Given the description of an element on the screen output the (x, y) to click on. 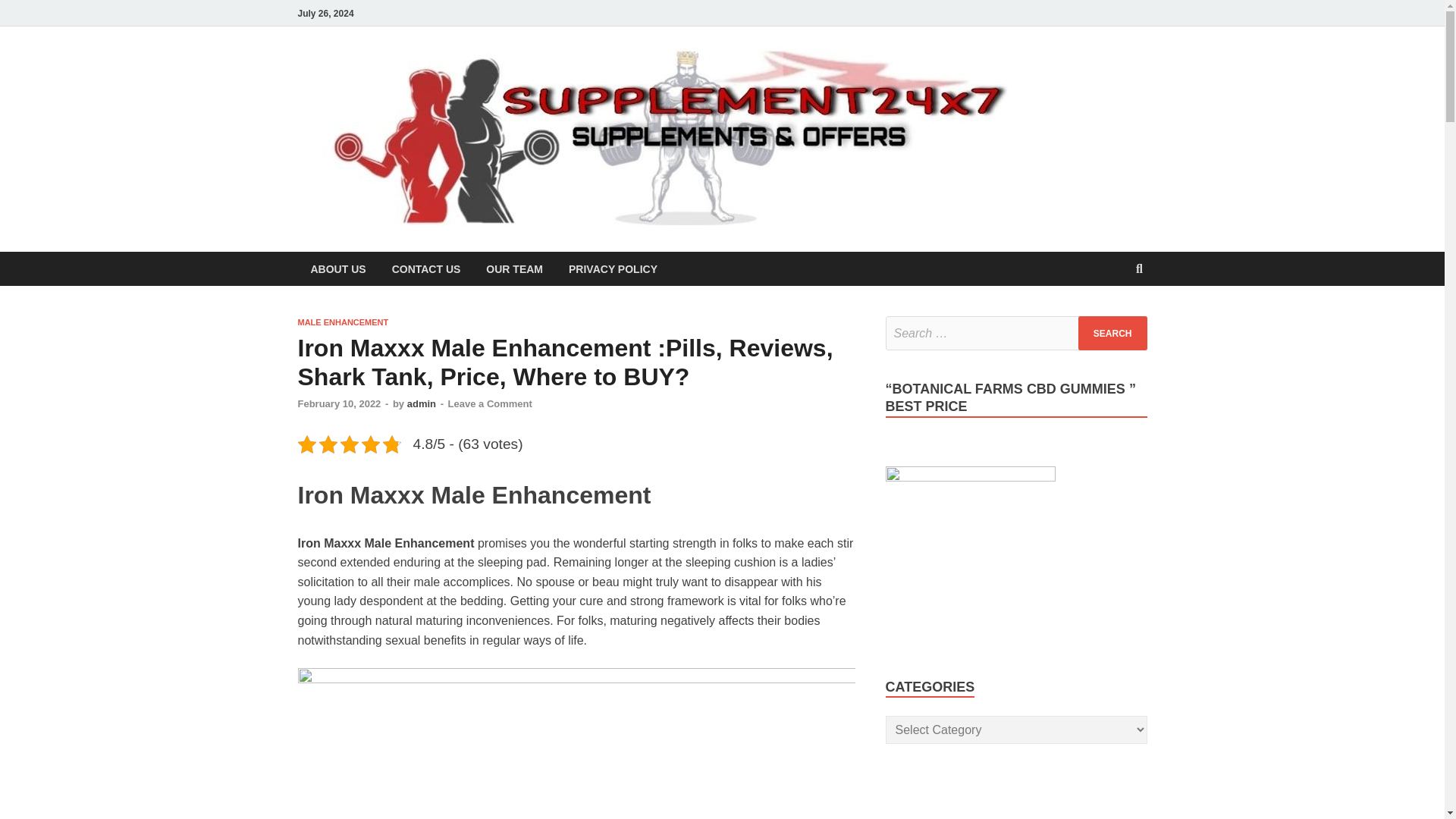
ABOUT US (337, 268)
MALE ENHANCEMENT (342, 321)
Leave a Comment (490, 403)
Search (1112, 333)
Iron Maxxx Male Enhancement (575, 743)
Search (1112, 333)
OUR TEAM (514, 268)
SUPPLEMENTS 24 x 7 (1156, 95)
February 10, 2022 (338, 403)
Search (1112, 333)
CONTACT US (426, 268)
admin (421, 403)
PRIVACY POLICY (612, 268)
